Given the description of an element on the screen output the (x, y) to click on. 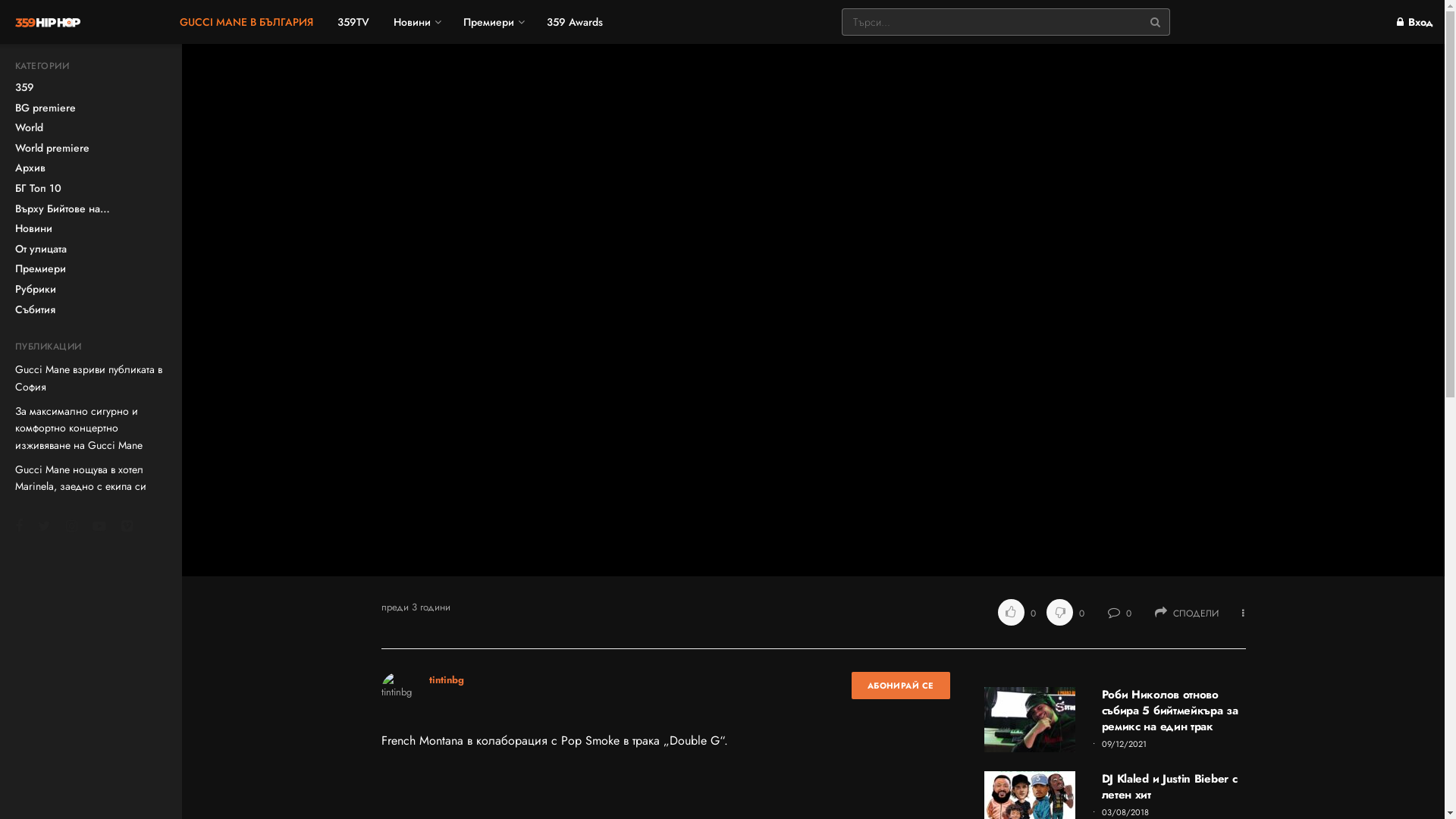
0 Element type: text (1118, 613)
359 Media Element type: hover (813, 309)
359 Element type: text (24, 87)
0 Element type: text (1061, 613)
World premiere Element type: text (52, 148)
0 Element type: text (1017, 613)
359 Awards Element type: text (574, 21)
World Element type: text (29, 127)
03/08/2018 Element type: text (1123, 812)
359TV Element type: text (353, 21)
09/12/2021 Element type: text (1122, 743)
BG premiere Element type: text (45, 108)
tintinbg Element type: text (446, 679)
